Given the description of an element on the screen output the (x, y) to click on. 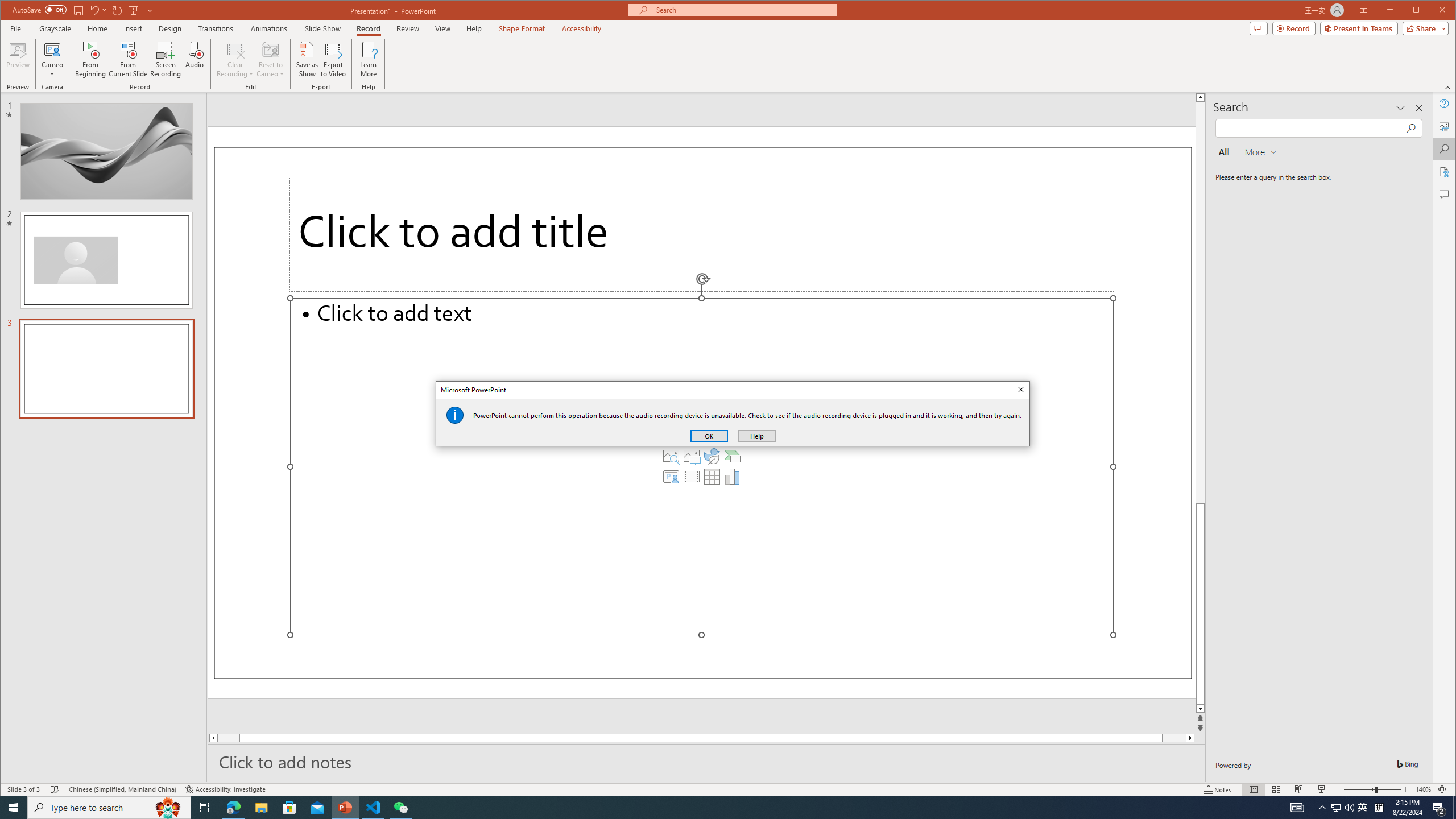
Insert Cameo (670, 476)
From Current Slide... (127, 59)
